Given the description of an element on the screen output the (x, y) to click on. 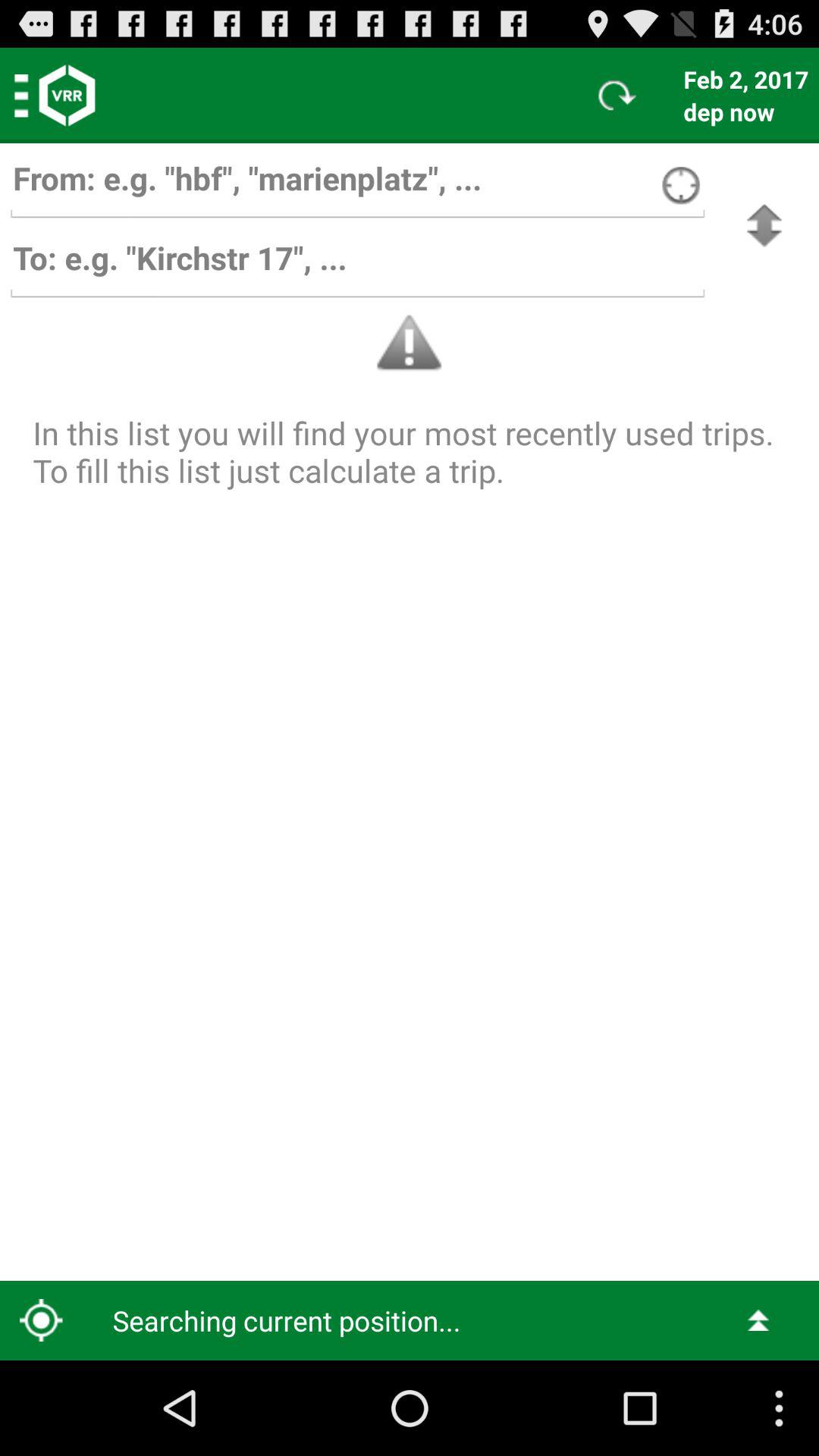
enter the from address (357, 185)
